Given the description of an element on the screen output the (x, y) to click on. 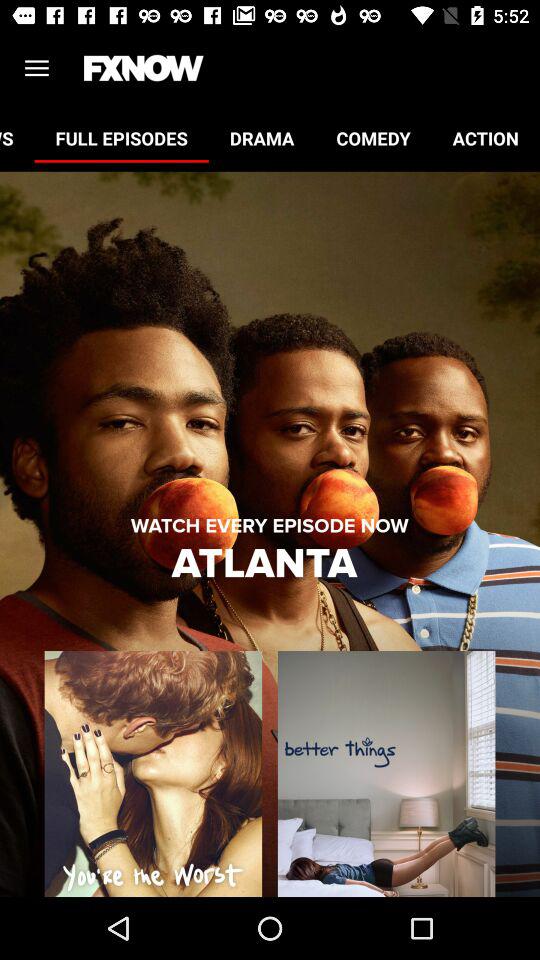
select icon to the left of the action (373, 138)
